Given the description of an element on the screen output the (x, y) to click on. 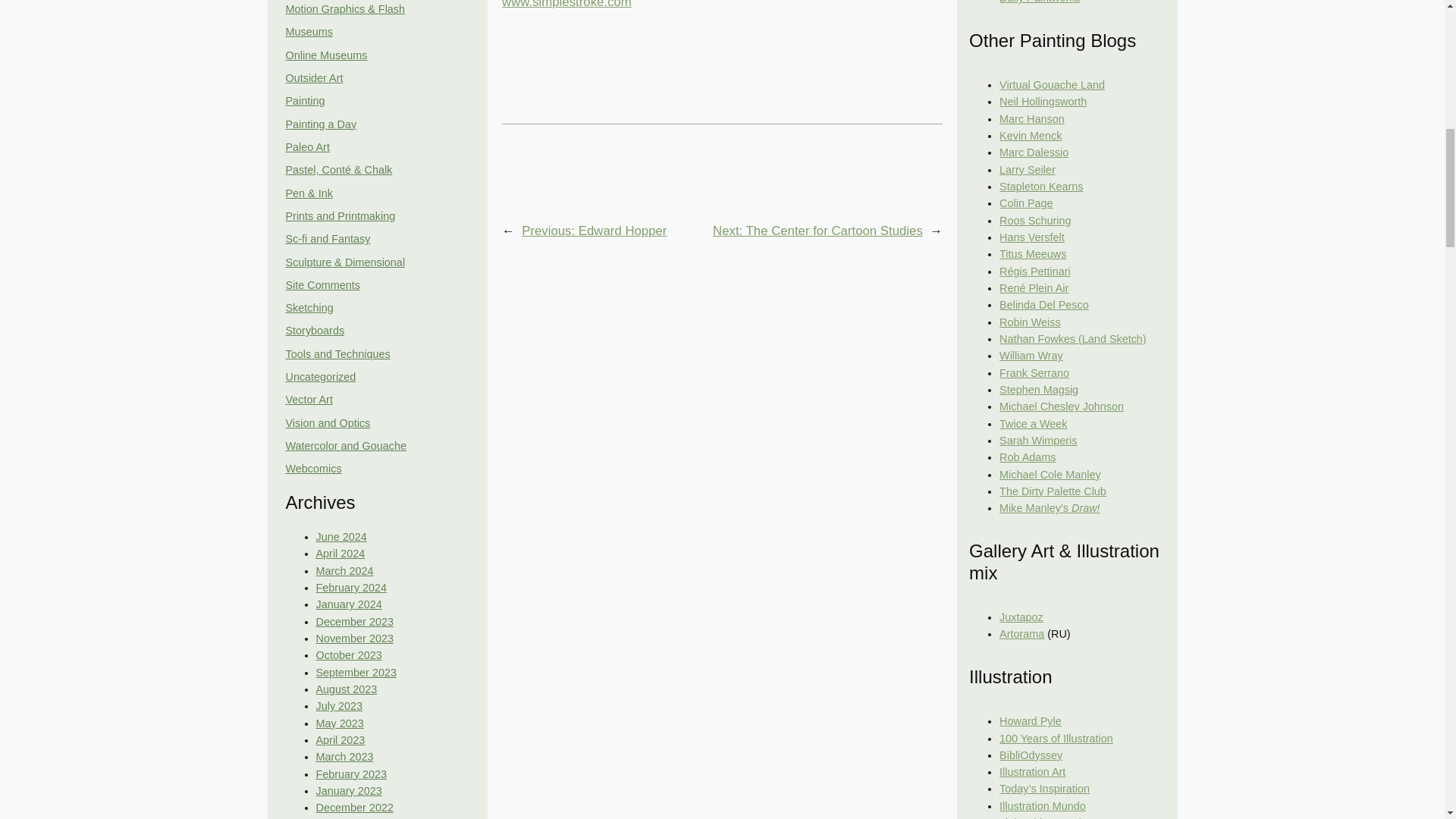
Site Comments (322, 285)
Sketching (309, 307)
Online Museums (325, 55)
Prints and Printmaking (339, 215)
Museums (308, 31)
Painting a Day (320, 123)
Uncategorized (320, 377)
Outsider Art (313, 78)
Paleo Art (307, 146)
Tools and Techniques (337, 354)
Storyboards (314, 330)
Sc-fi and Fantasy (327, 238)
Painting (304, 101)
